Given the description of an element on the screen output the (x, y) to click on. 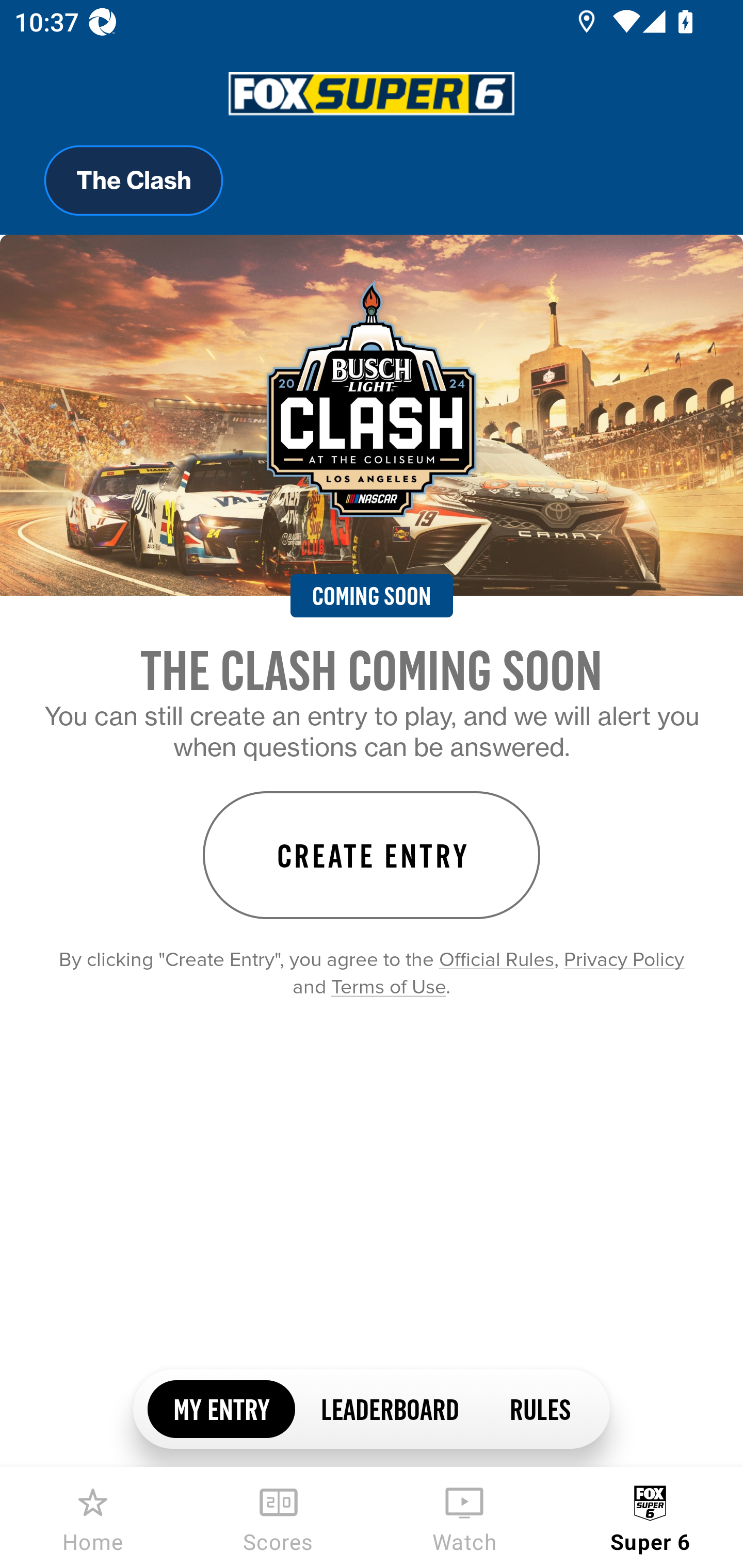
CREATE ENTRY (371, 854)
LEADERBOARD (388, 1408)
RULES (539, 1408)
Home (92, 1517)
Scores (278, 1517)
Watch (464, 1517)
